Given the description of an element on the screen output the (x, y) to click on. 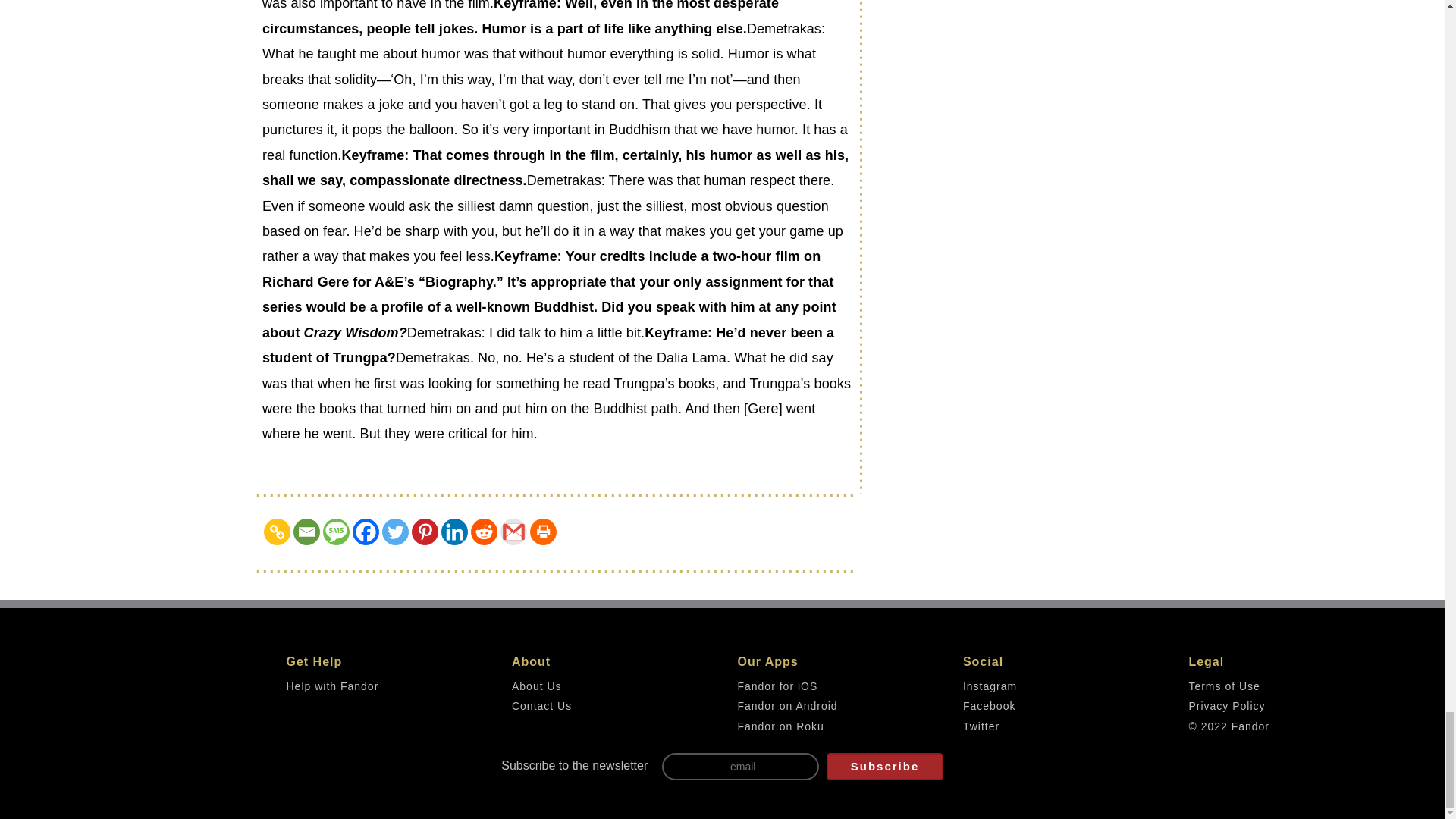
SMS (336, 531)
Facebook (365, 531)
Pinterest (425, 531)
Google Gmail (513, 531)
Linkedin (454, 531)
Reddit (483, 531)
Email (307, 531)
Copy Link (276, 531)
Twitter (395, 531)
